Given the description of an element on the screen output the (x, y) to click on. 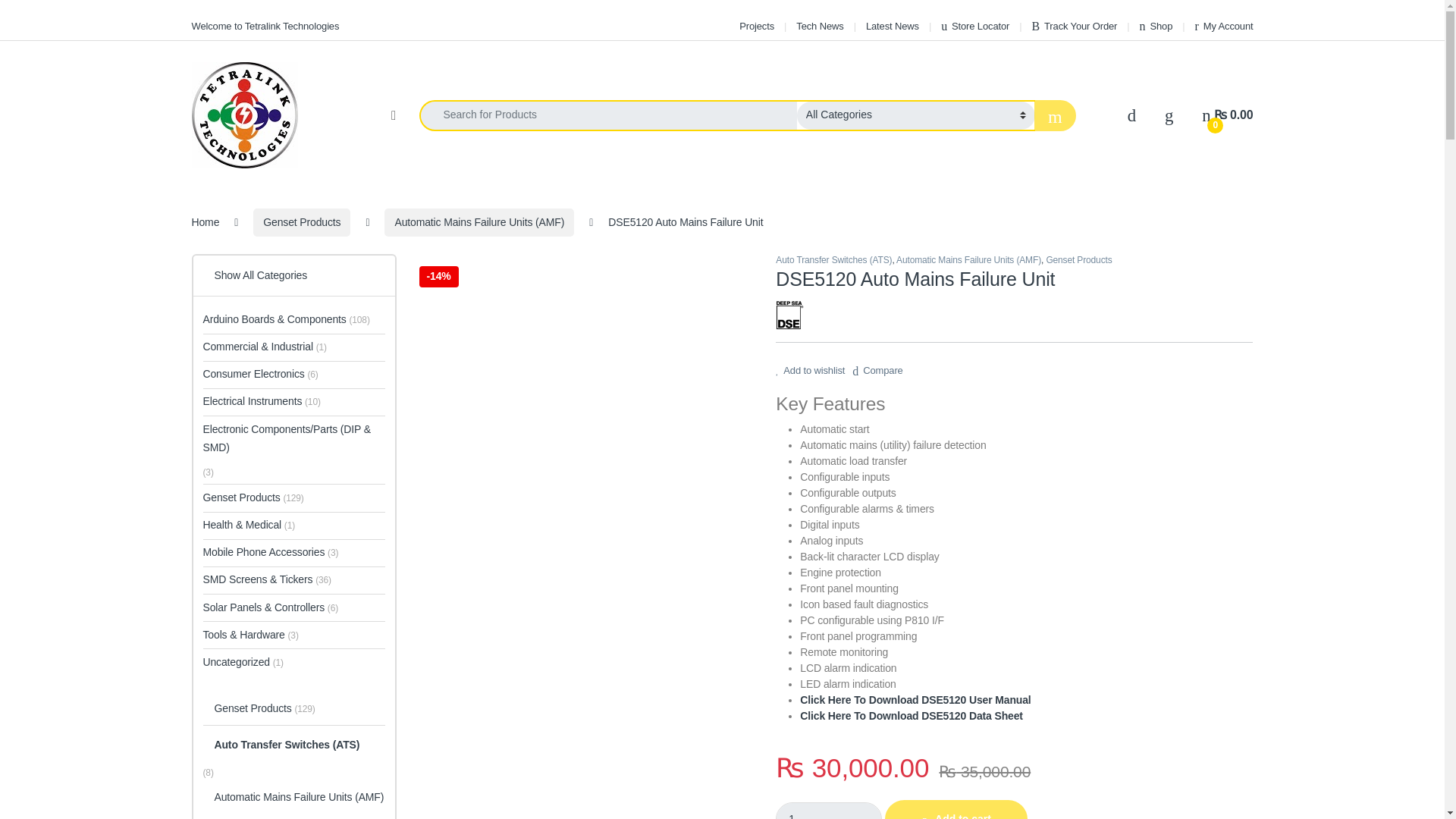
Store Locator (974, 26)
My Account (1224, 26)
Track Your Order (1073, 26)
Projects (756, 26)
Shop (1156, 26)
Track Your Order (1073, 26)
Shop (1156, 26)
Latest News (892, 26)
Store Locator (974, 26)
Latest News (892, 26)
